Given the description of an element on the screen output the (x, y) to click on. 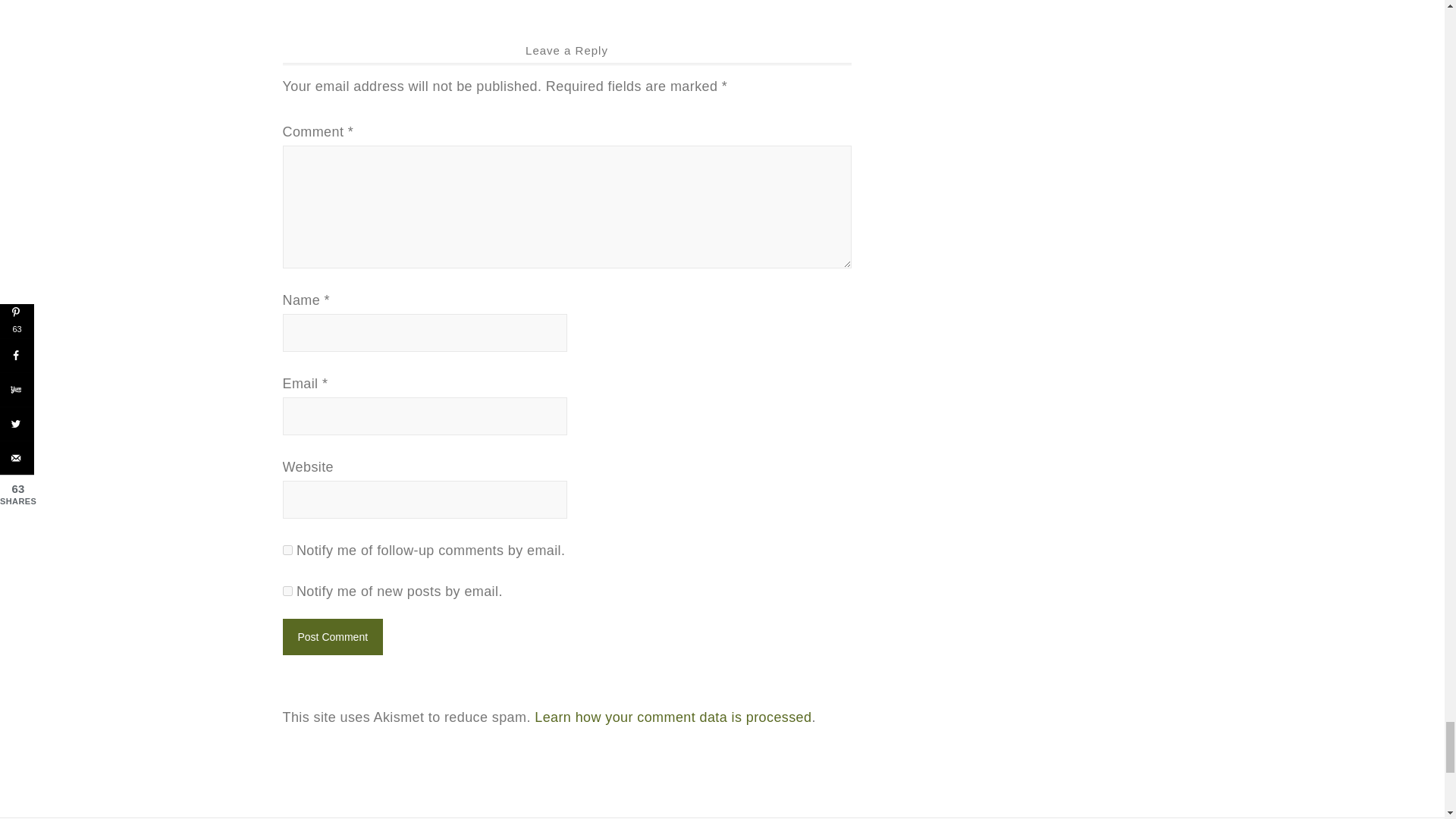
subscribe (287, 591)
subscribe (287, 550)
Post Comment (332, 637)
